Given the description of an element on the screen output the (x, y) to click on. 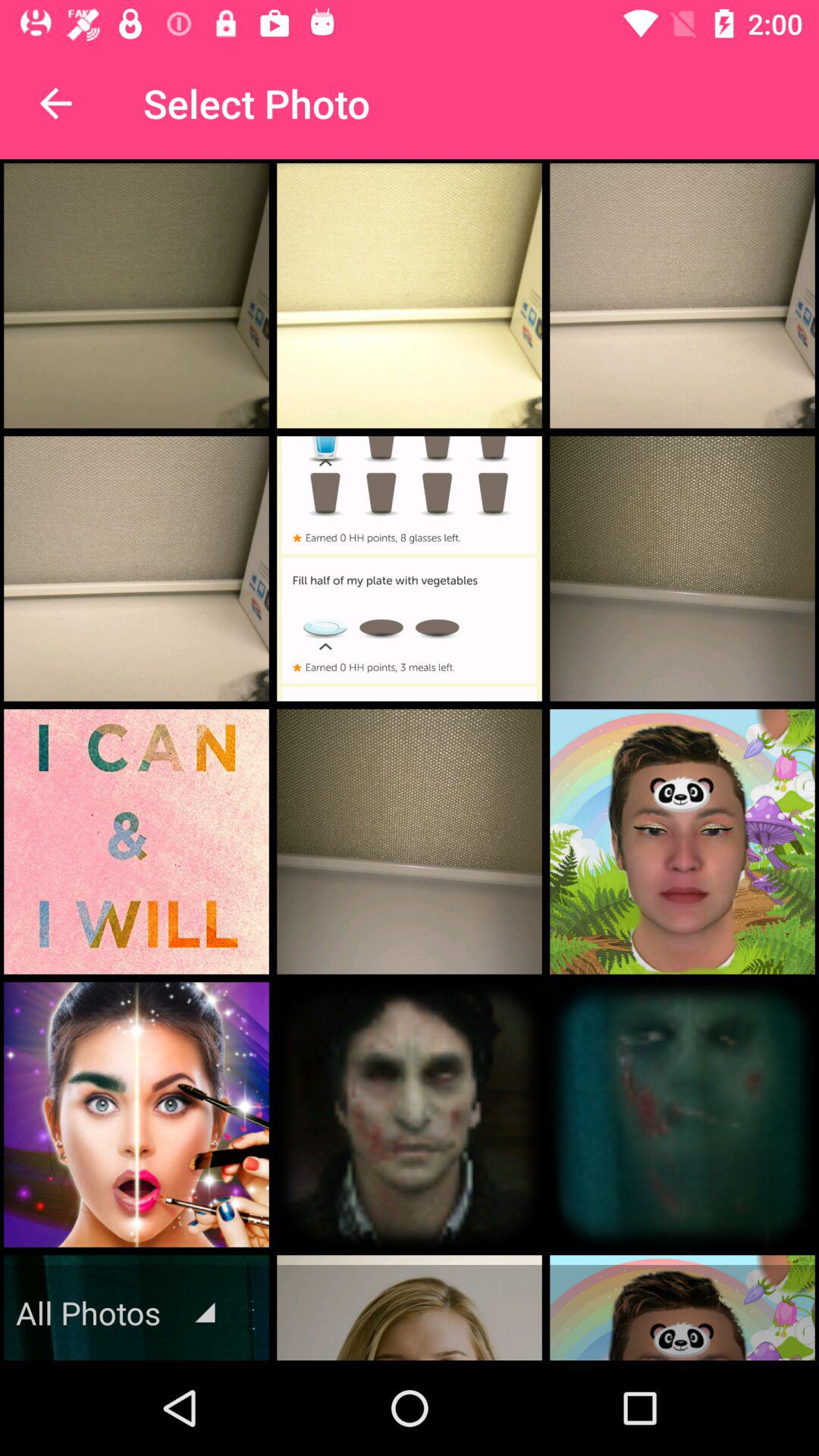
select the 4th picture (136, 568)
